Given the description of an element on the screen output the (x, y) to click on. 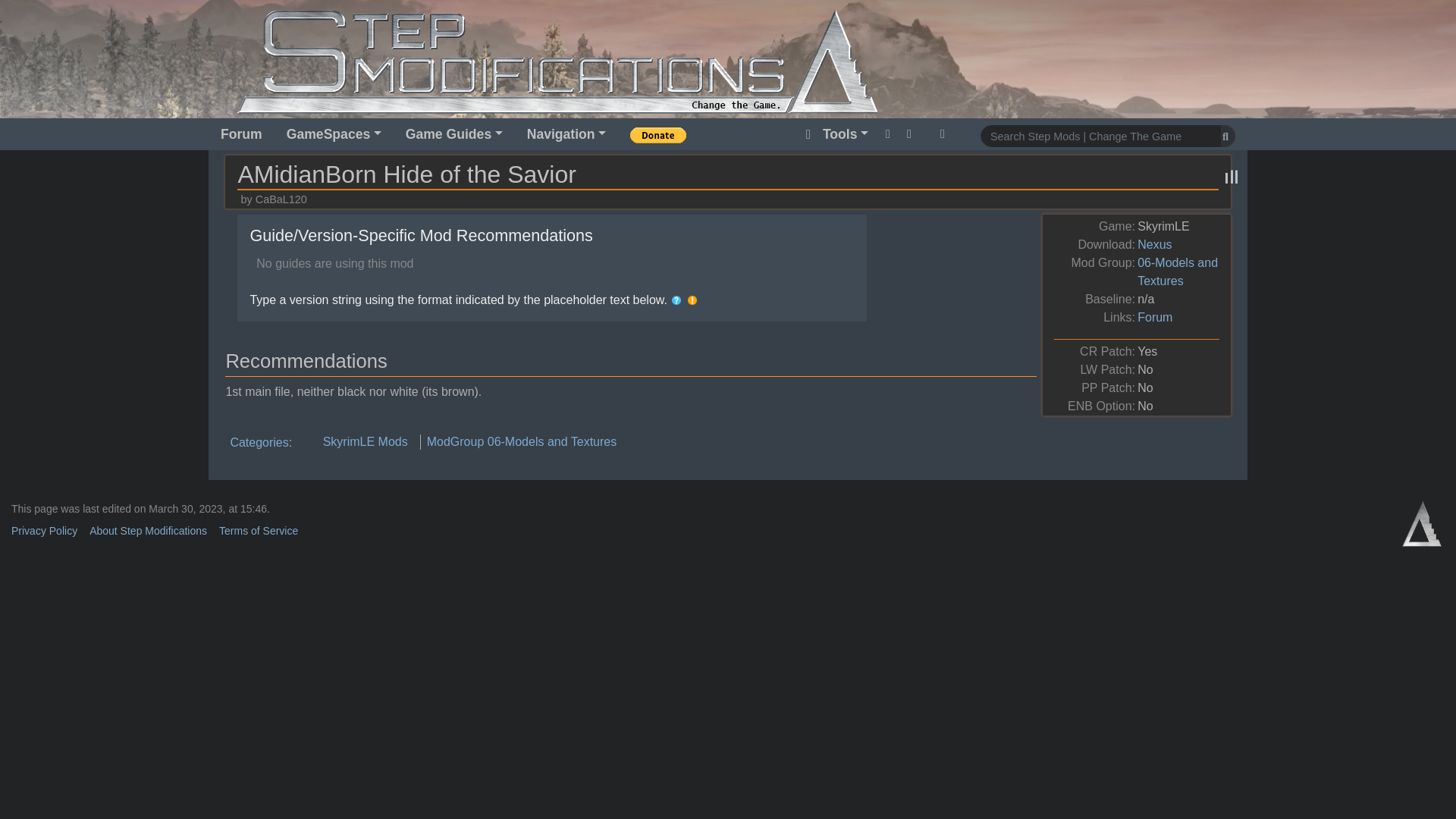
Game Guides (454, 133)
GameSpaces (334, 133)
Forum (241, 133)
Visit the main page (557, 60)
Tools (833, 133)
Navigation (566, 133)
